Given the description of an element on the screen output the (x, y) to click on. 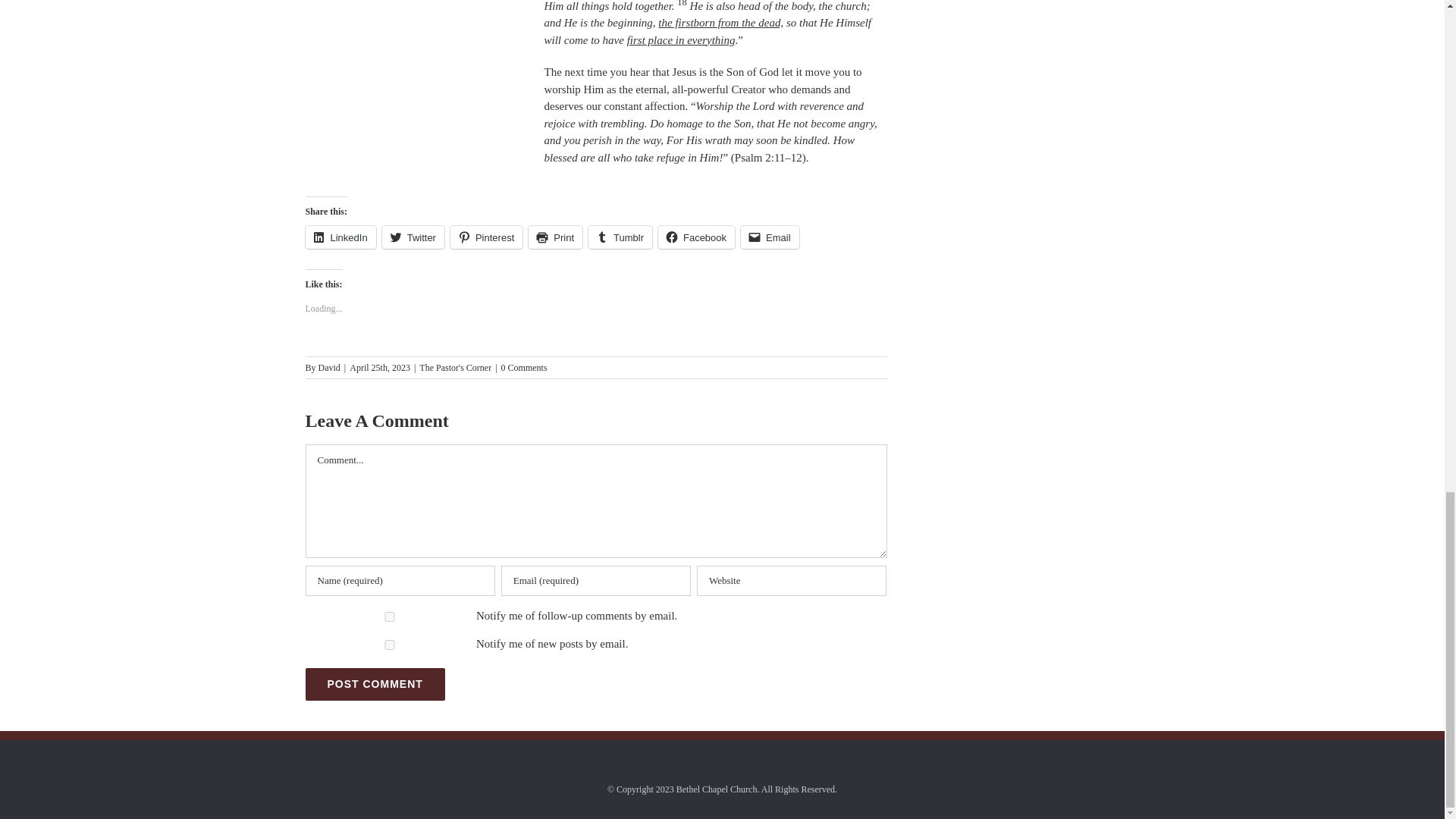
Facebook (696, 237)
Click to email a link to a friend (770, 237)
Click to share on LinkedIn (339, 237)
Print (555, 237)
Twitter (412, 237)
LinkedIn (339, 237)
subscribe (388, 644)
Click to share on Twitter (412, 237)
Pinterest (485, 237)
The Pastor's Corner (455, 367)
Click to share on Pinterest (485, 237)
Post Comment (374, 684)
Click to share on Facebook (696, 237)
Click to share on Tumblr (620, 237)
subscribe (388, 616)
